Given the description of an element on the screen output the (x, y) to click on. 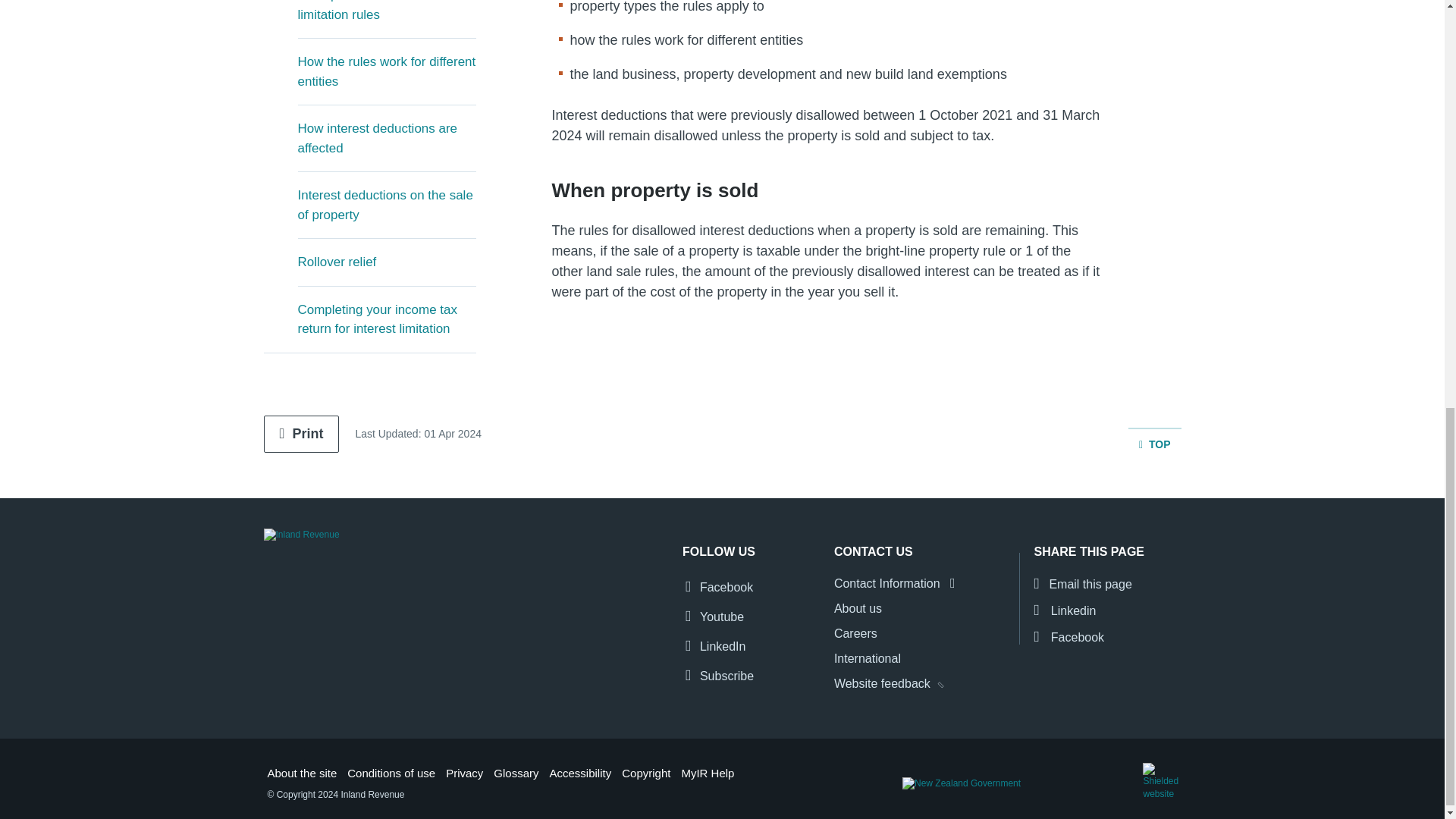
Exemptions from the interest limitation rules (386, 19)
How interest deductions are affected (386, 138)
Rollover relief (386, 262)
Completing your income tax return for interest limitation (386, 319)
How the rules work for different entities (386, 71)
Interest deductions on the sale of property (386, 205)
